Given the description of an element on the screen output the (x, y) to click on. 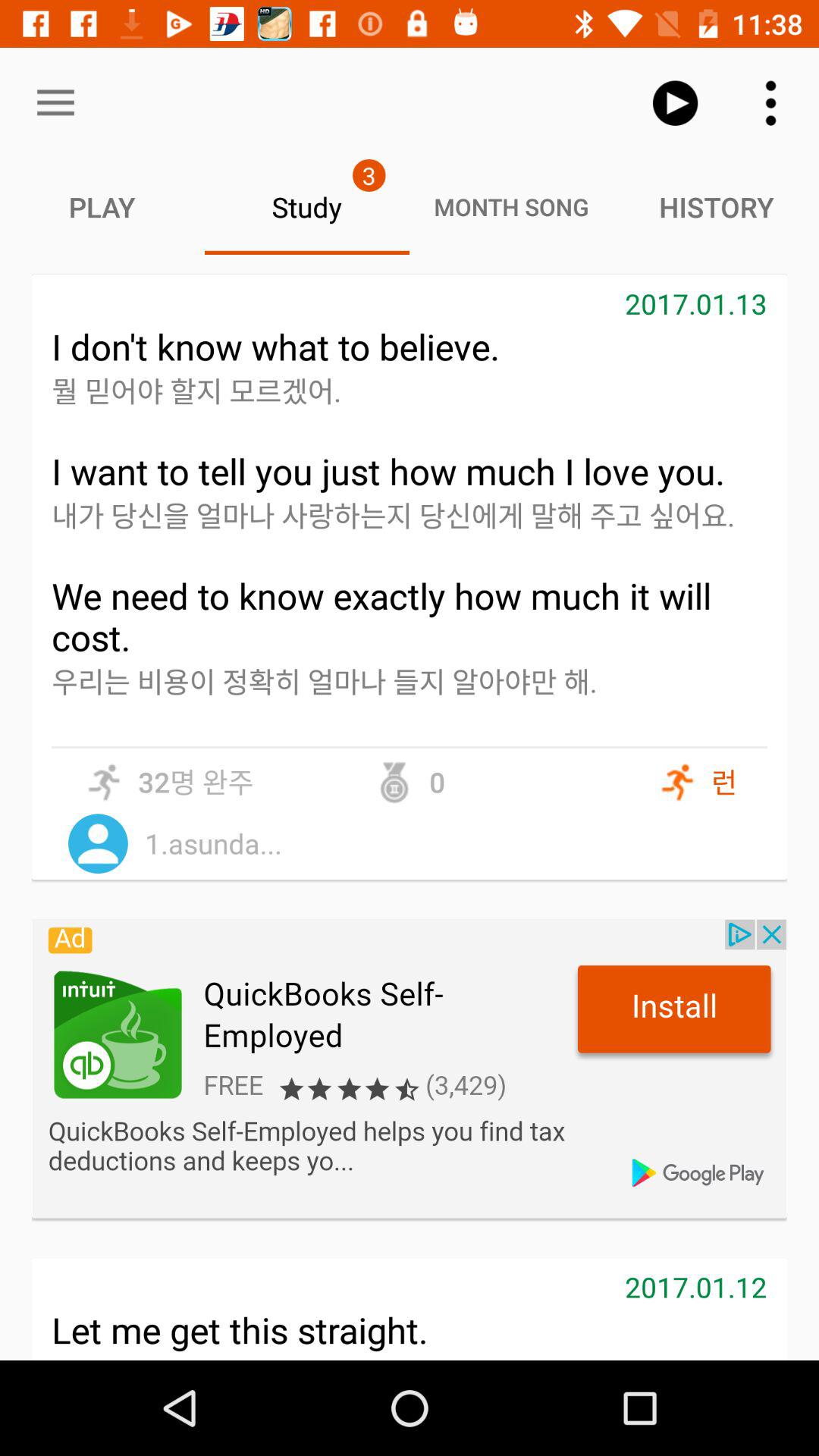
open advertisement (409, 1068)
